Given the description of an element on the screen output the (x, y) to click on. 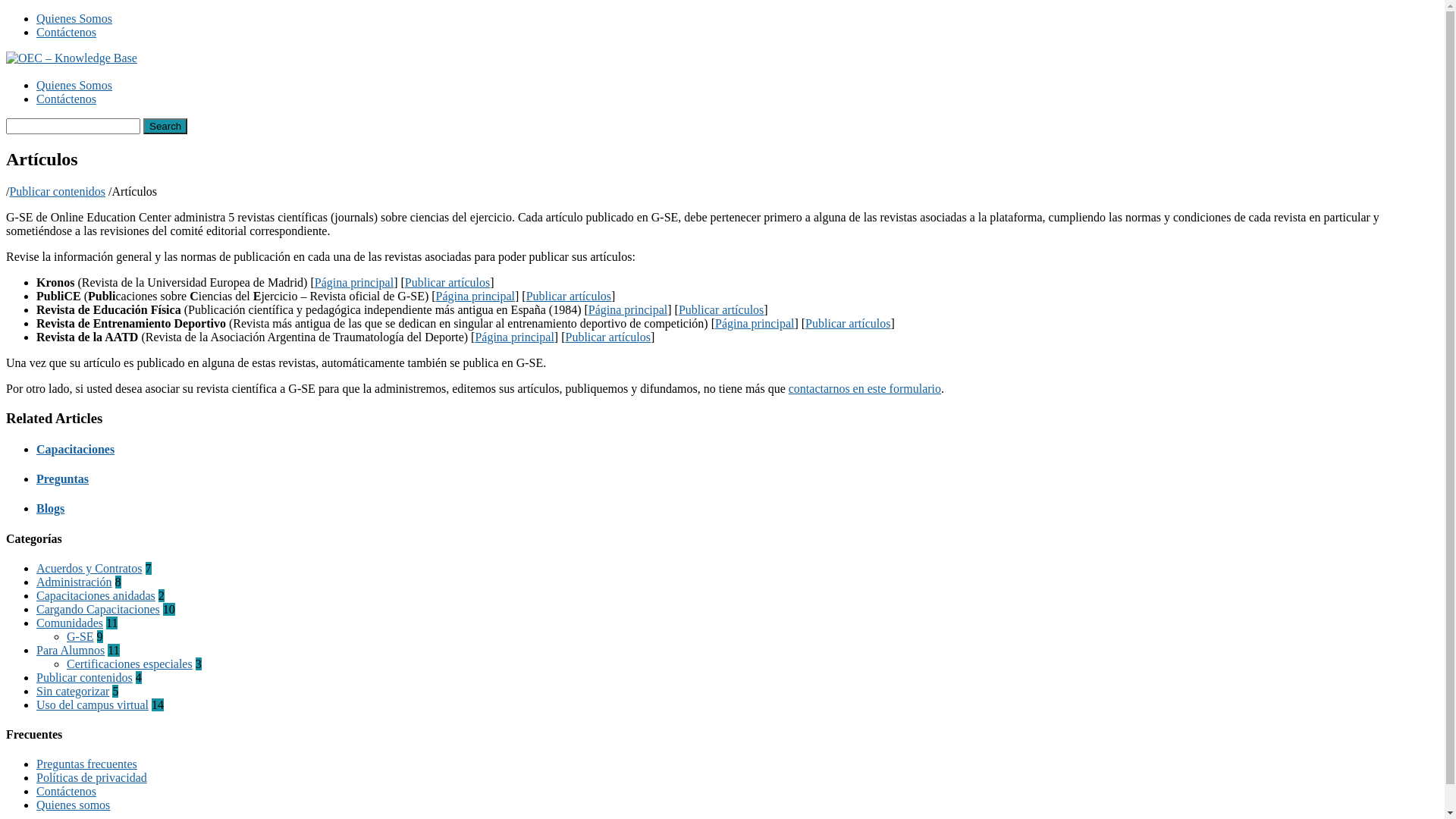
Capacitaciones Element type: text (75, 448)
Cargando Capacitaciones Element type: text (98, 608)
Search Element type: text (165, 126)
Preguntas Element type: text (62, 478)
Quienes somos Element type: text (72, 804)
Para Alumnos Element type: text (70, 649)
Certificaciones especiales Element type: text (129, 663)
Blogs Element type: text (50, 508)
Publicar contenidos Element type: text (57, 191)
Capacitaciones anidadas Element type: text (95, 595)
Comunidades Element type: text (69, 622)
Acuerdos y Contratos Element type: text (89, 567)
Publicar contenidos Element type: text (84, 677)
Preguntas frecuentes Element type: text (86, 763)
Quienes Somos Element type: text (74, 84)
Quienes Somos Element type: text (74, 18)
contactarnos en este formulario Element type: text (864, 388)
Sin categorizar Element type: text (72, 690)
G-SE Element type: text (80, 636)
Uso del campus virtual Element type: text (92, 704)
